Given the description of an element on the screen output the (x, y) to click on. 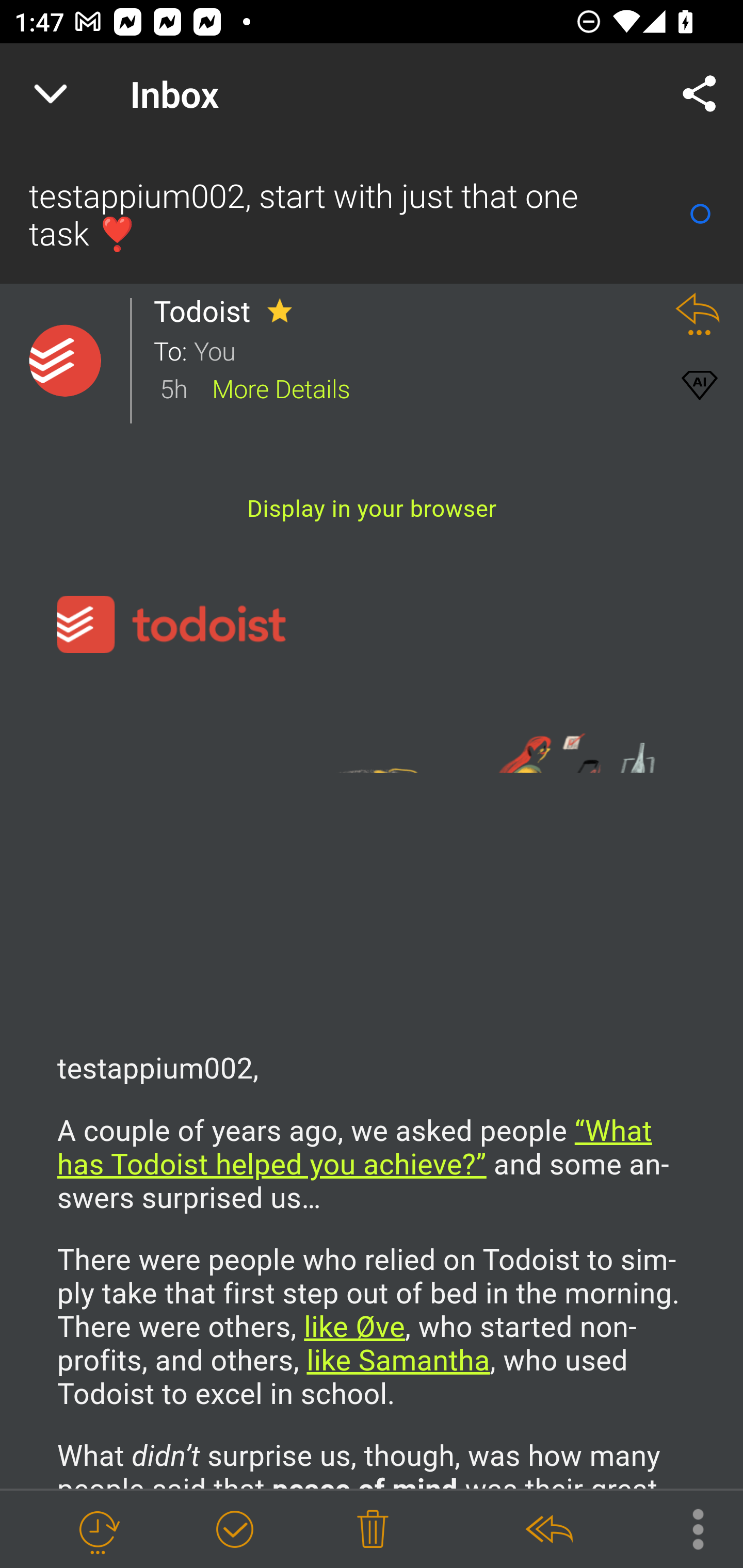
Navigate up (50, 93)
Share (699, 93)
Todoist (207, 310)
Contact Details (64, 360)
You (422, 349)
More Details (280, 387)
Display in your browser (371, 508)
“What has Todoist helped you achieve?” (354, 1147)
like Øve (354, 1327)
like Samantha (397, 1361)
Snooze (97, 1529)
Mark as Done (234, 1529)
Delete (372, 1529)
Reply All (548, 1529)
